Given the description of an element on the screen output the (x, y) to click on. 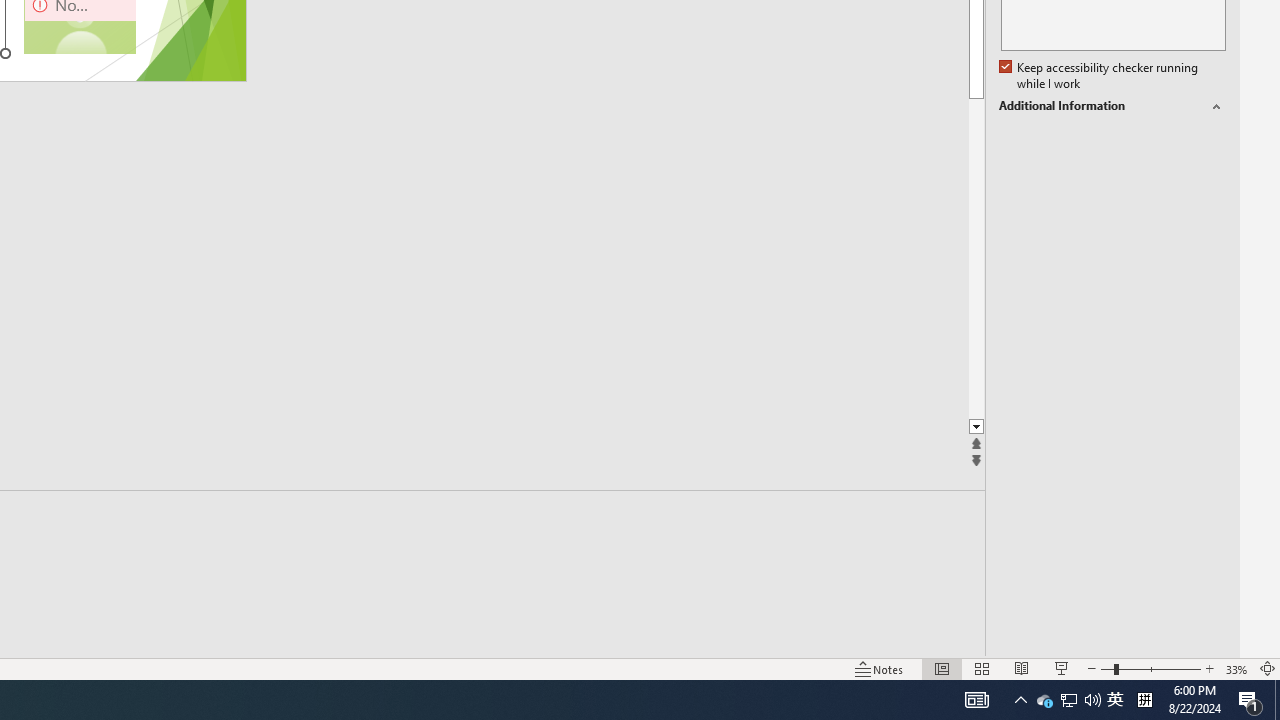
Zoom 33% (1236, 668)
